Given the description of an element on the screen output the (x, y) to click on. 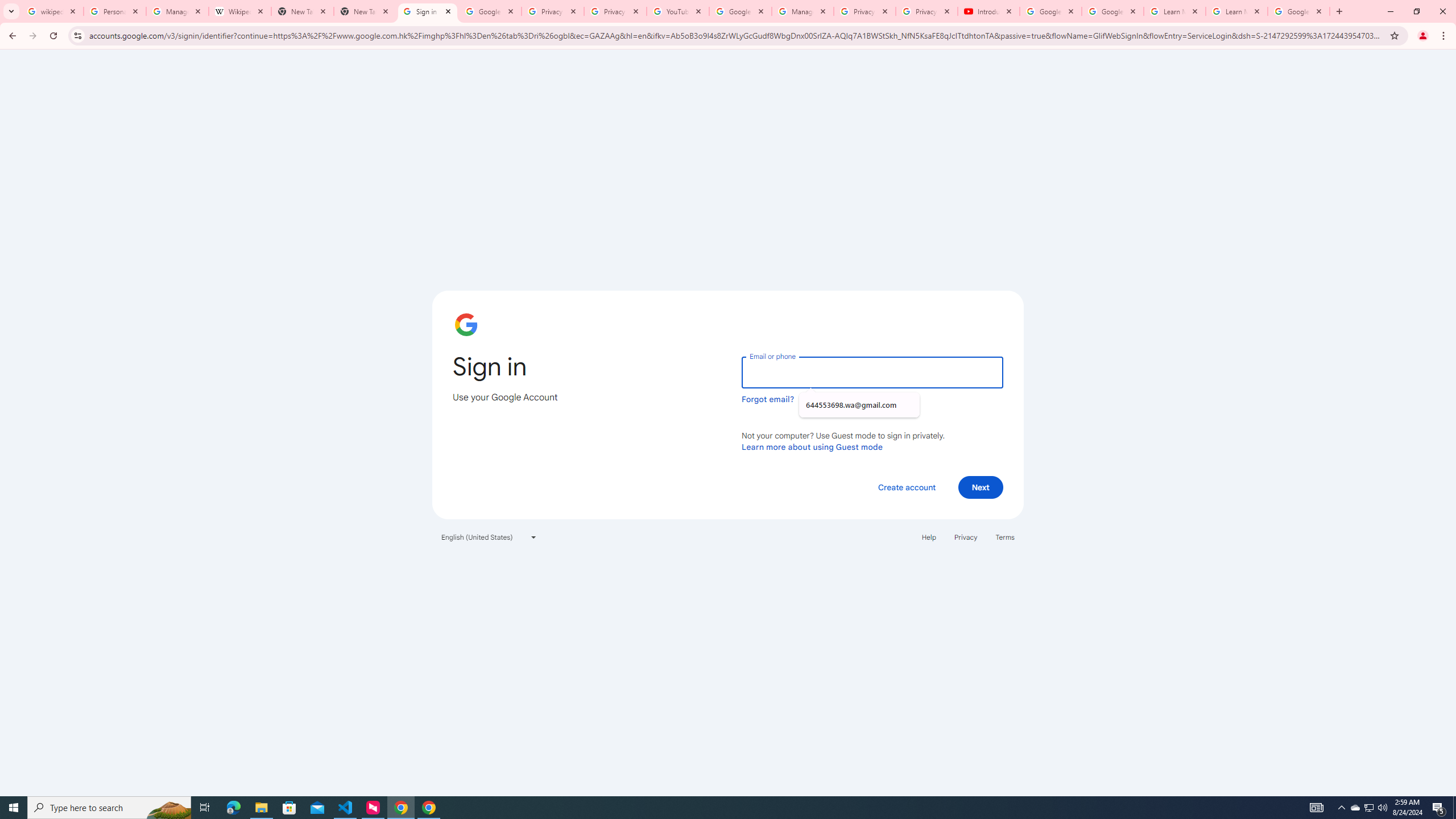
Google Account Help (1050, 11)
Learn more about using Guest mode (812, 446)
New Tab (365, 11)
Manage your Location History - Google Search Help (177, 11)
Google Account Help (1111, 11)
Sign in - Google Accounts (427, 11)
